Given the description of an element on the screen output the (x, y) to click on. 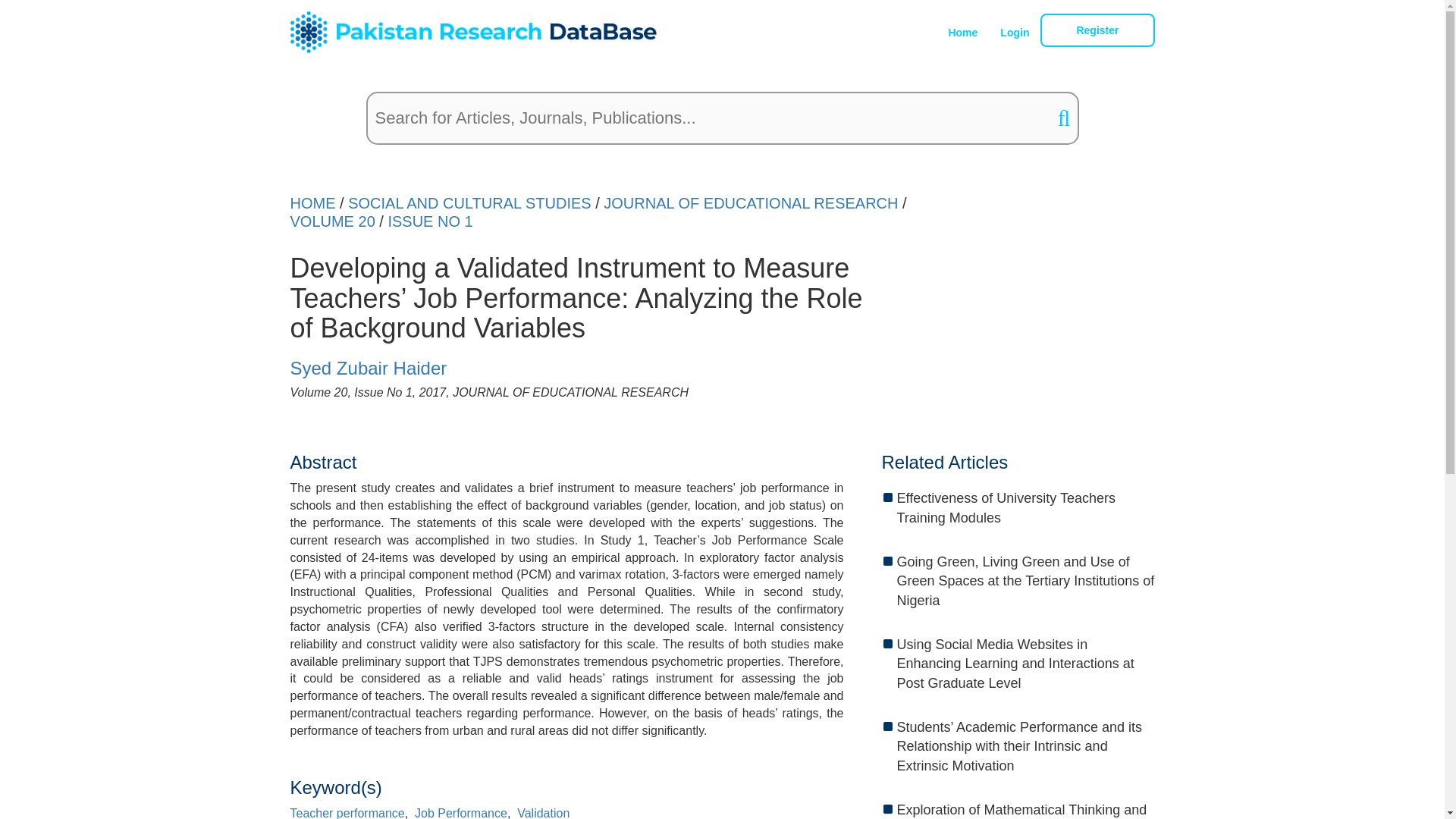
Login (1014, 32)
ISSUE NO 1 (429, 221)
Effectiveness of University Teachers Training Modules (1025, 507)
HOME (311, 202)
Register (1097, 29)
VOLUME 20 (331, 221)
Syed Zubair Haider (367, 367)
